Given the description of an element on the screen output the (x, y) to click on. 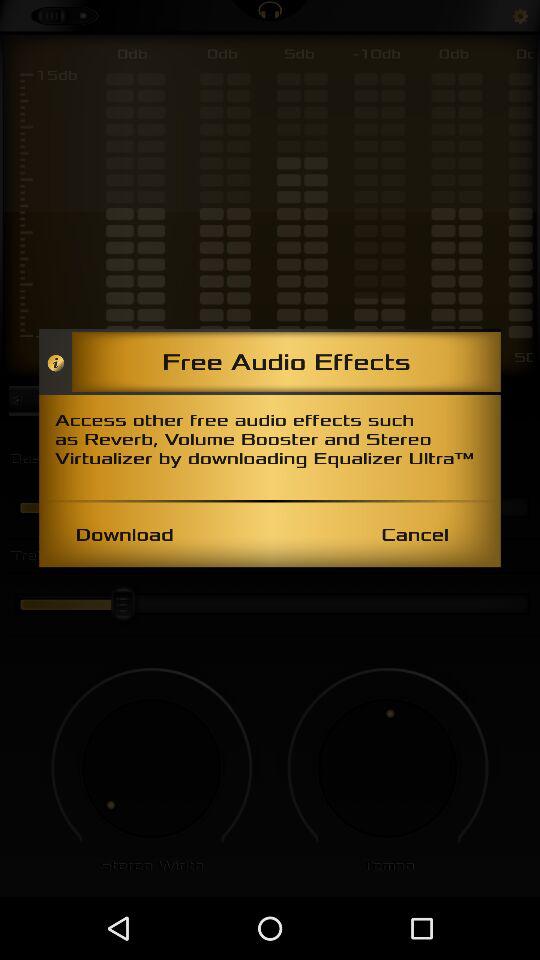
choose the icon next to the cancel (124, 534)
